Given the description of an element on the screen output the (x, y) to click on. 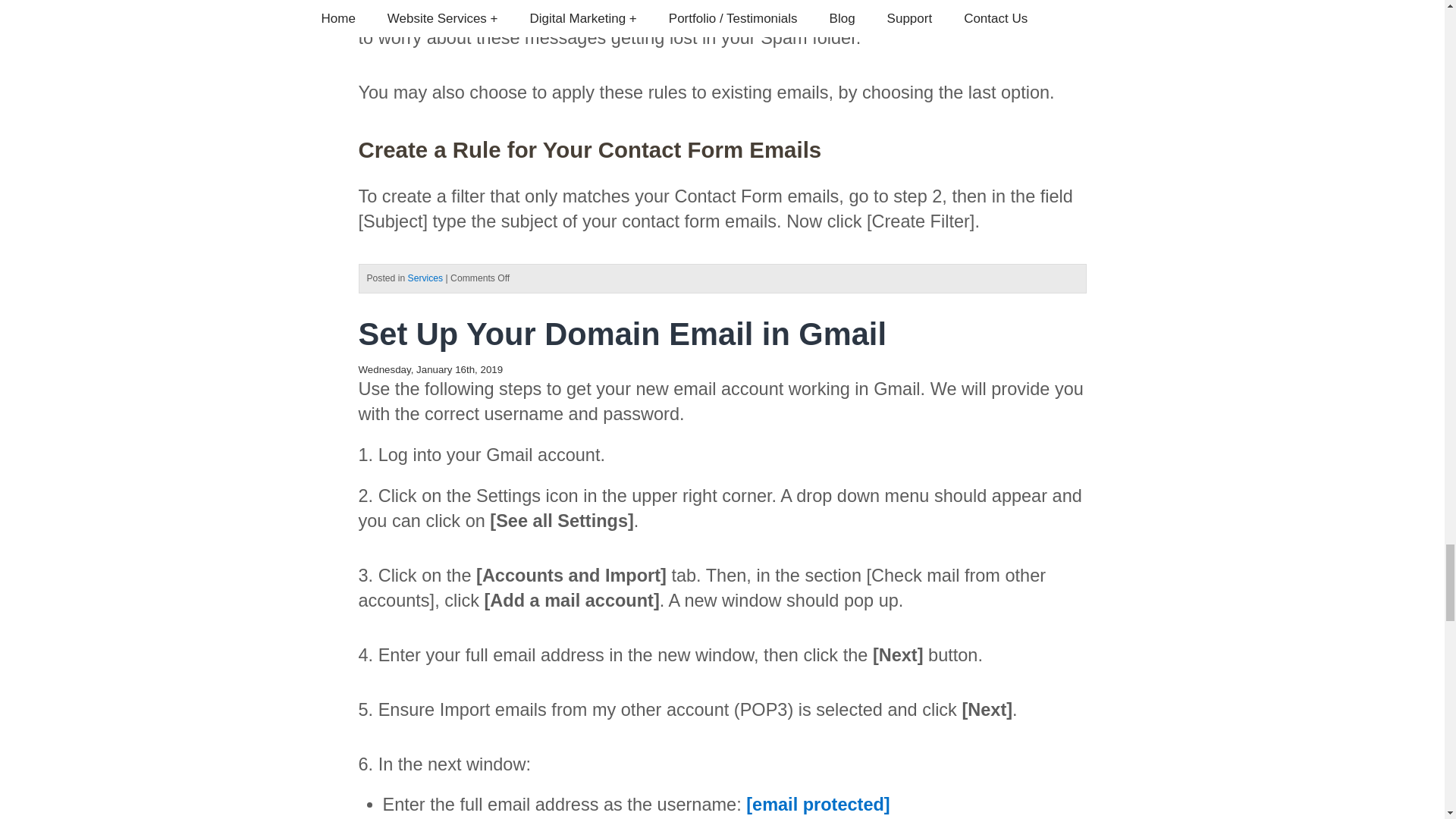
Set Up Your Domain Email in Gmail (621, 334)
Services (425, 277)
Permanent Link to Set Up Your Domain Email in Gmail (621, 334)
